Given the description of an element on the screen output the (x, y) to click on. 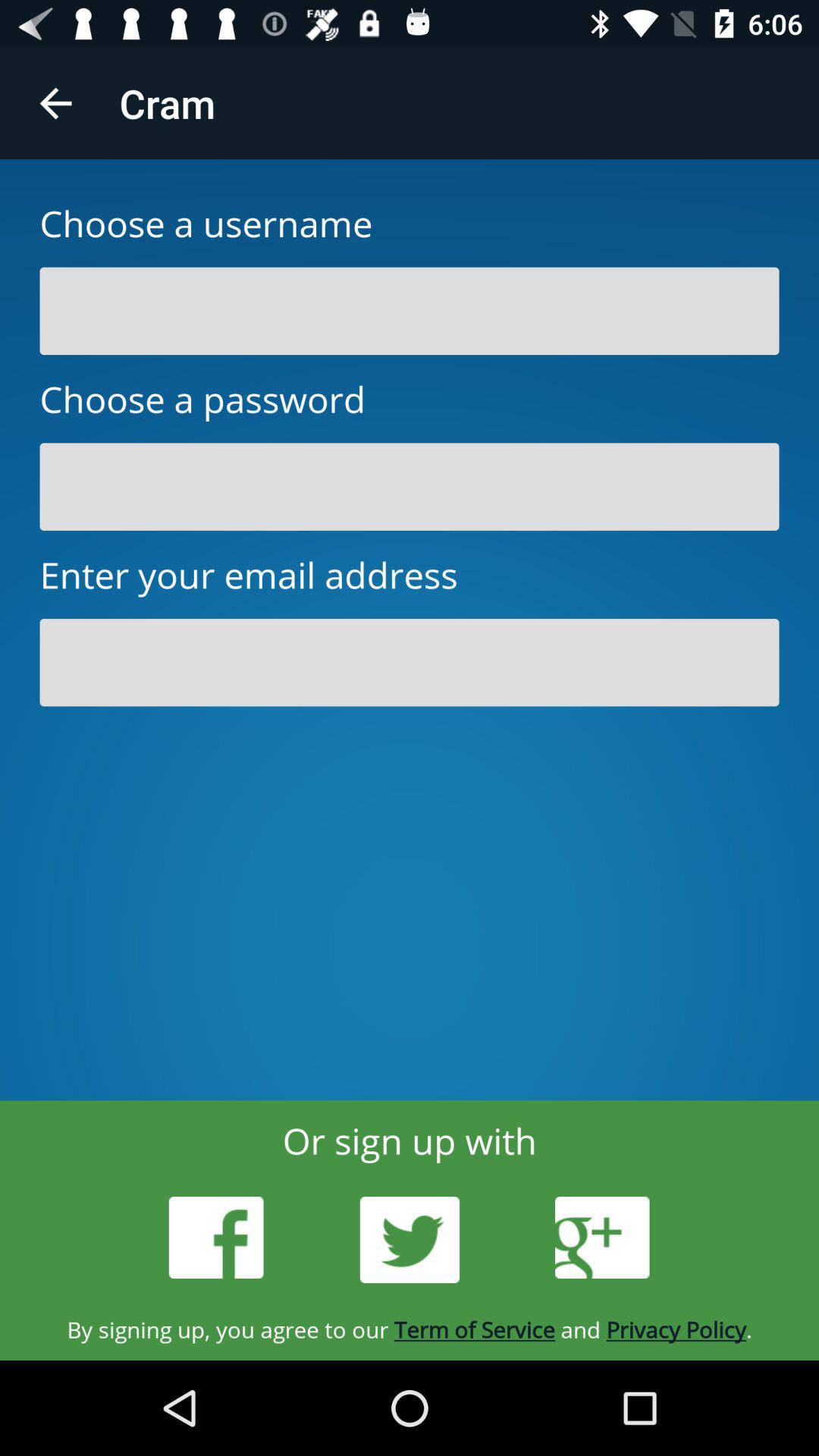
f icon used to connect with facebook directly (216, 1237)
